Given the description of an element on the screen output the (x, y) to click on. 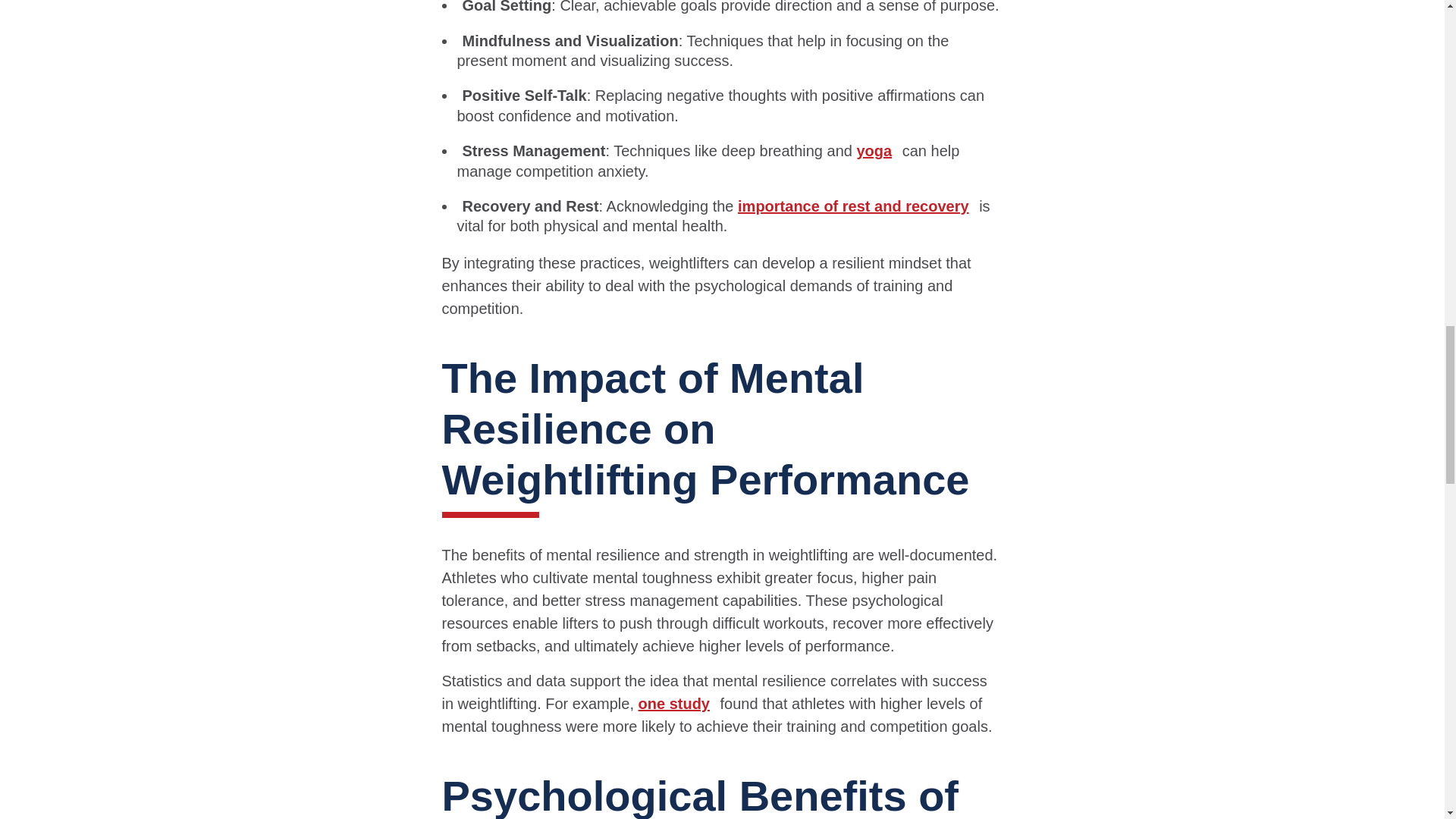
one study (677, 703)
importance of rest and recovery (856, 206)
yoga (877, 150)
